Given the description of an element on the screen output the (x, y) to click on. 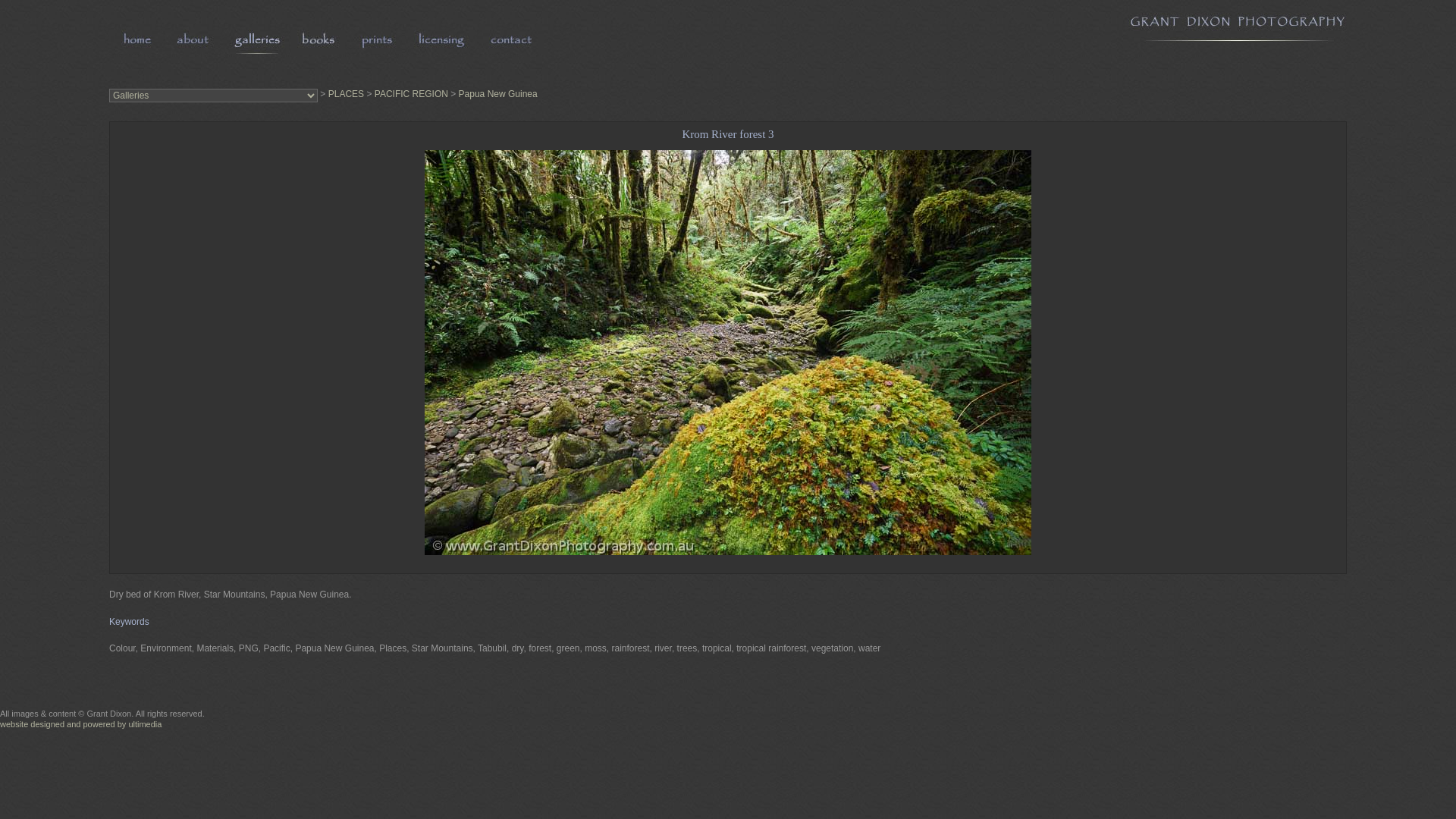
PACIFIC REGION Element type: text (411, 93)
PLACES Element type: text (346, 93)
website designed and powered by ultimedia Element type: text (80, 723)
Papua New Guinea Element type: text (497, 93)
